Given the description of an element on the screen output the (x, y) to click on. 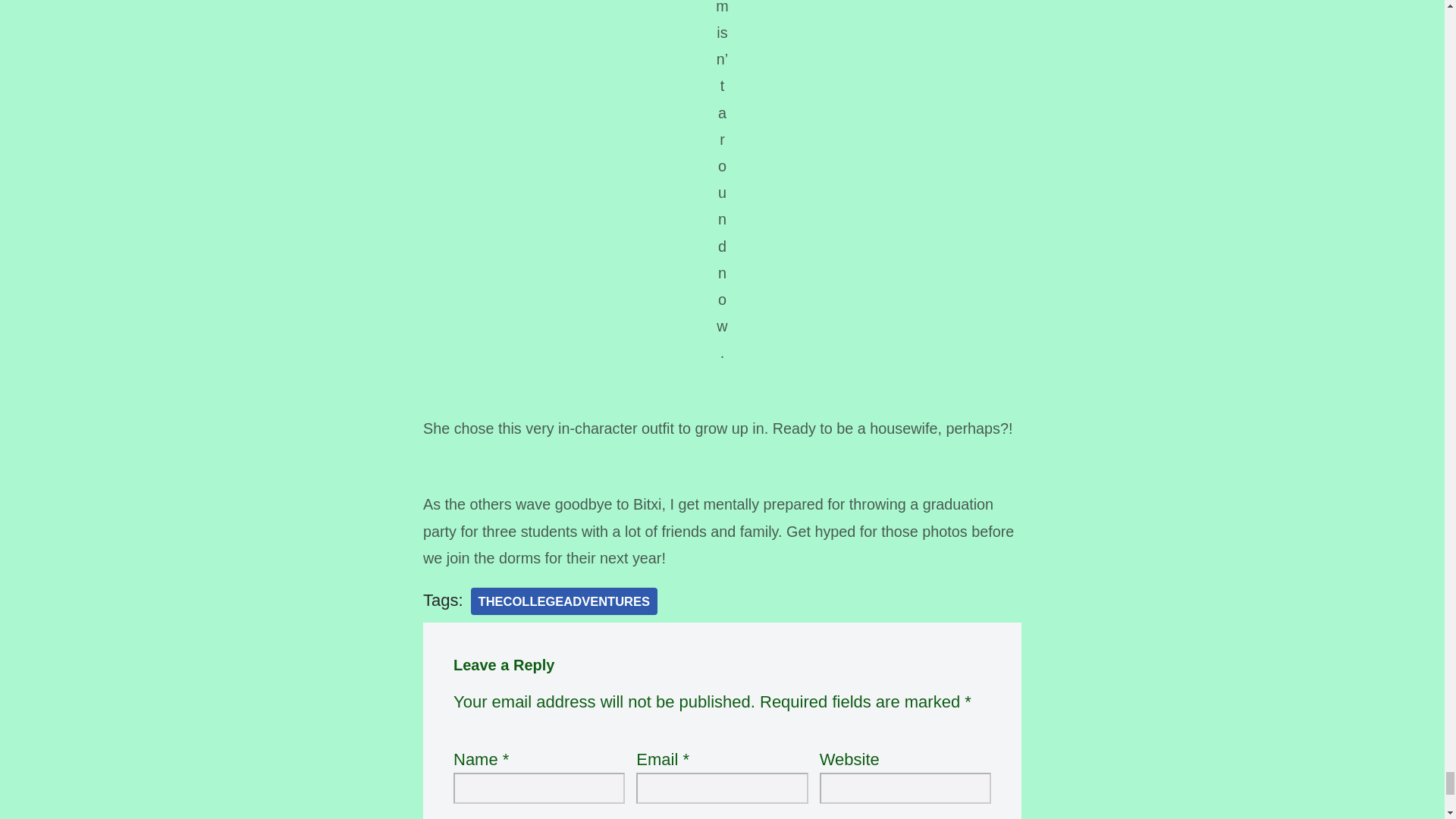
THECOLLEGEADVENTURES (564, 601)
thecollegeadventures (564, 601)
